Given the description of an element on the screen output the (x, y) to click on. 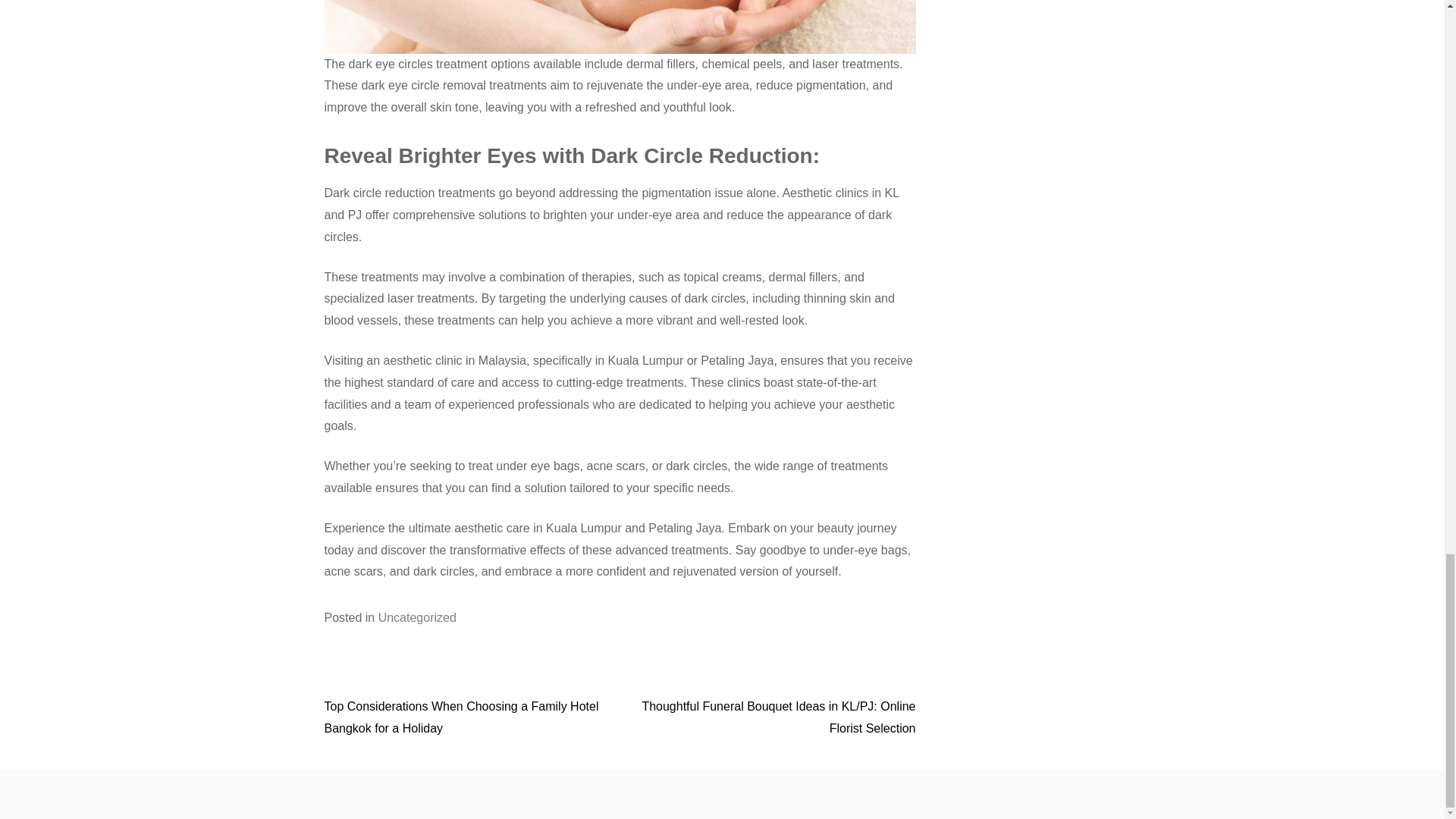
Uncategorized (417, 617)
